Given the description of an element on the screen output the (x, y) to click on. 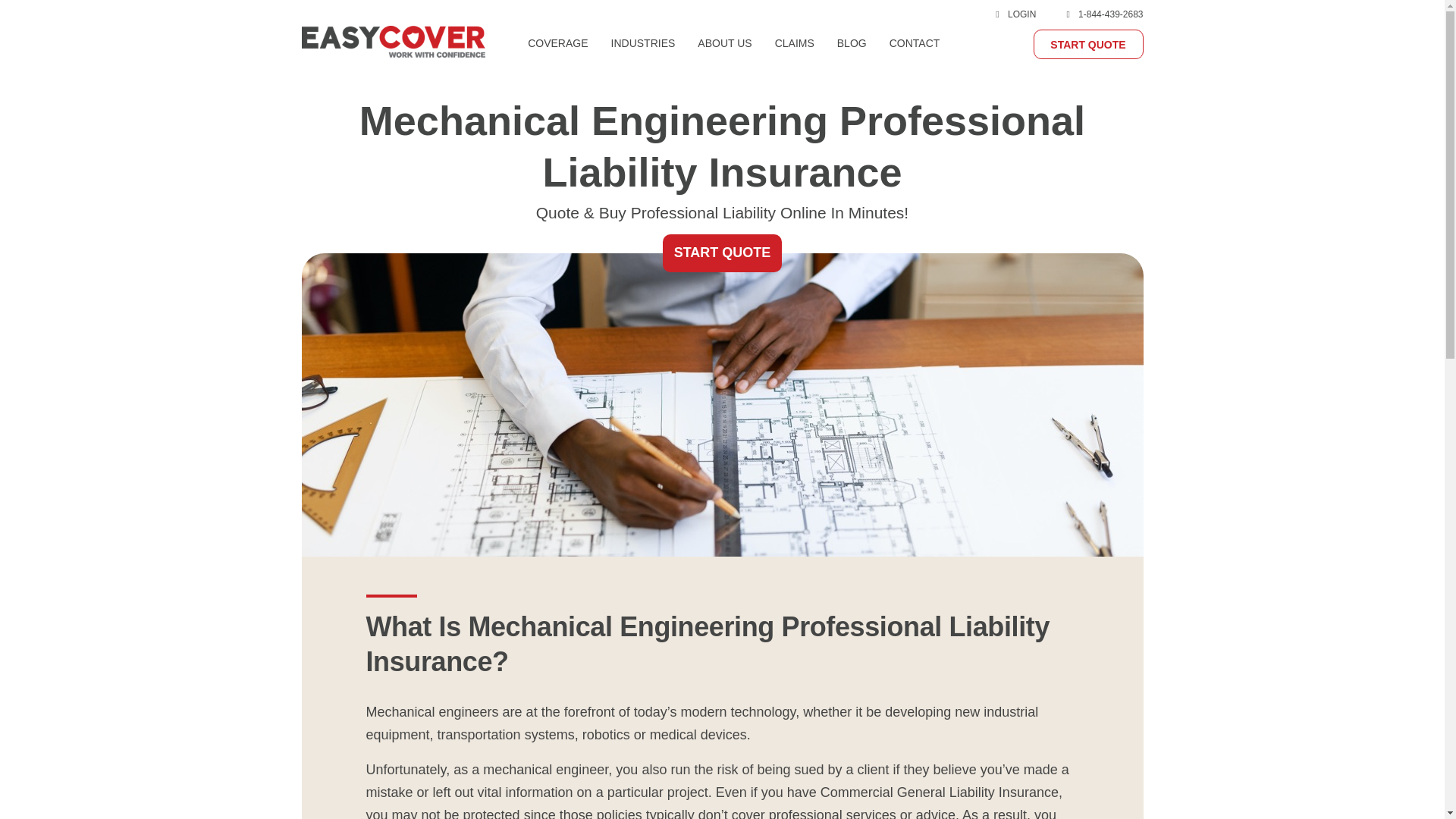
INDUSTRIES (643, 60)
COVERAGE (557, 60)
